Given the description of an element on the screen output the (x, y) to click on. 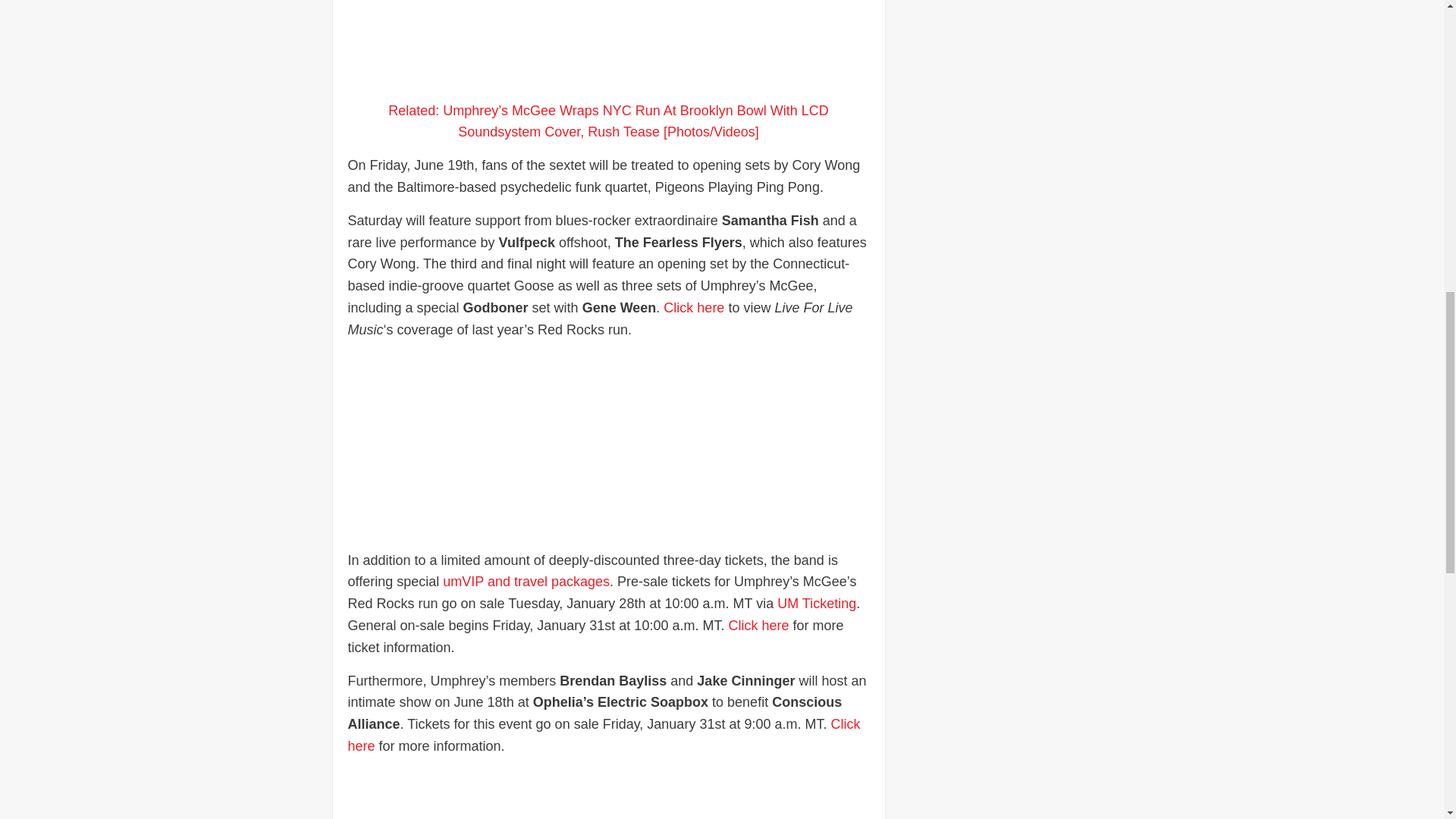
Click here (758, 625)
UM Ticketing (816, 603)
Click here (693, 307)
Click here (603, 734)
umVIP and travel packages (524, 581)
